Given the description of an element on the screen output the (x, y) to click on. 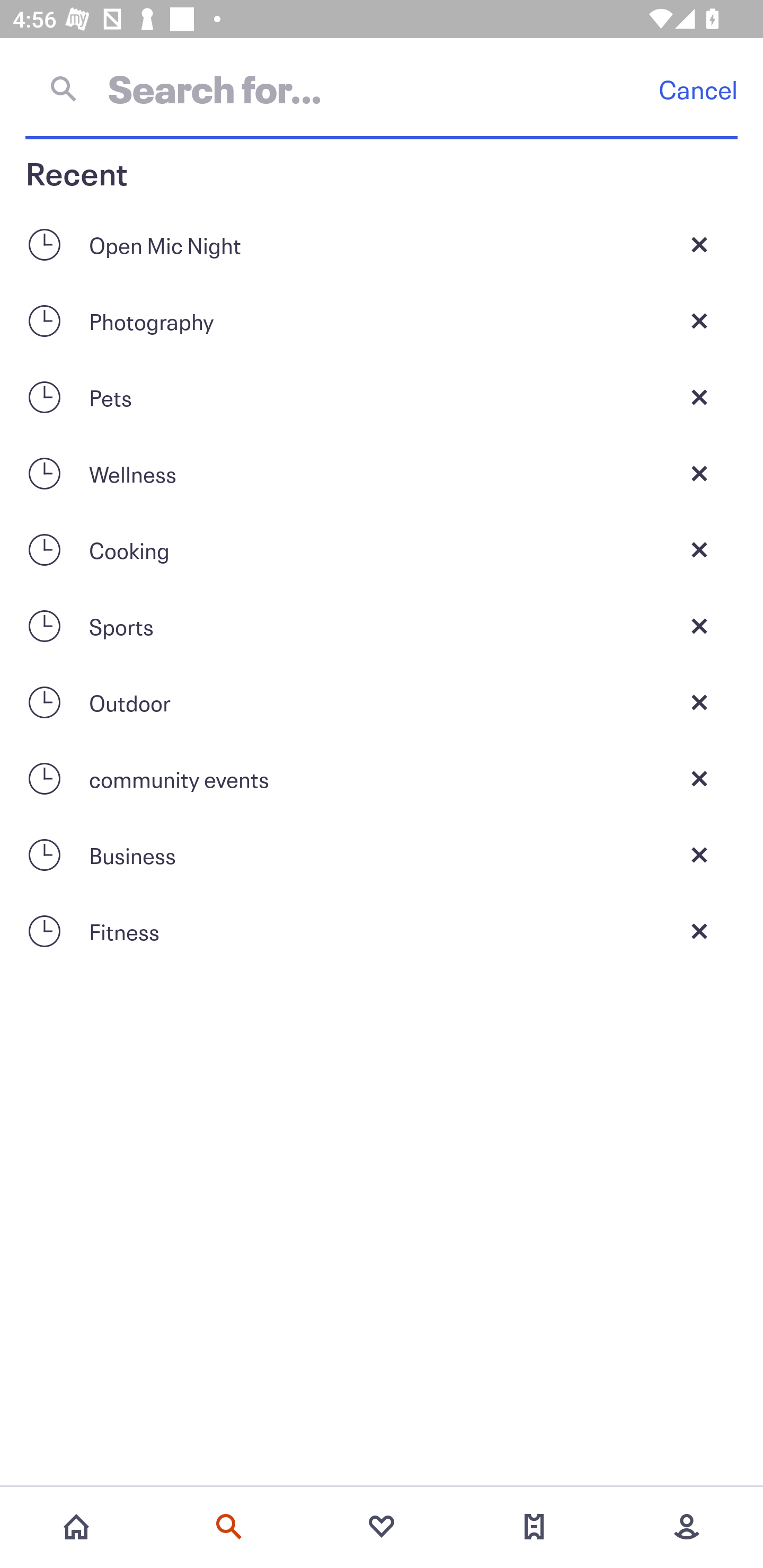
Cancel Search for… (381, 88)
Cancel (697, 89)
Open Mic Night Close current screen (381, 244)
Close current screen (699, 244)
Photography Close current screen (381, 320)
Close current screen (699, 320)
Pets Close current screen (381, 397)
Close current screen (699, 397)
Wellness Close current screen (381, 473)
Close current screen (699, 473)
Cooking Close current screen (381, 549)
Close current screen (699, 549)
Sports Close current screen (381, 626)
Close current screen (699, 626)
Outdoor Close current screen (381, 702)
Close current screen (699, 702)
community events Close current screen (381, 778)
Close current screen (699, 778)
Business Close current screen (381, 854)
Close current screen (699, 854)
Fitness Close current screen (381, 931)
Close current screen (699, 931)
Home (76, 1526)
Search events (228, 1526)
Favorites (381, 1526)
Tickets (533, 1526)
More (686, 1526)
